Given the description of an element on the screen output the (x, y) to click on. 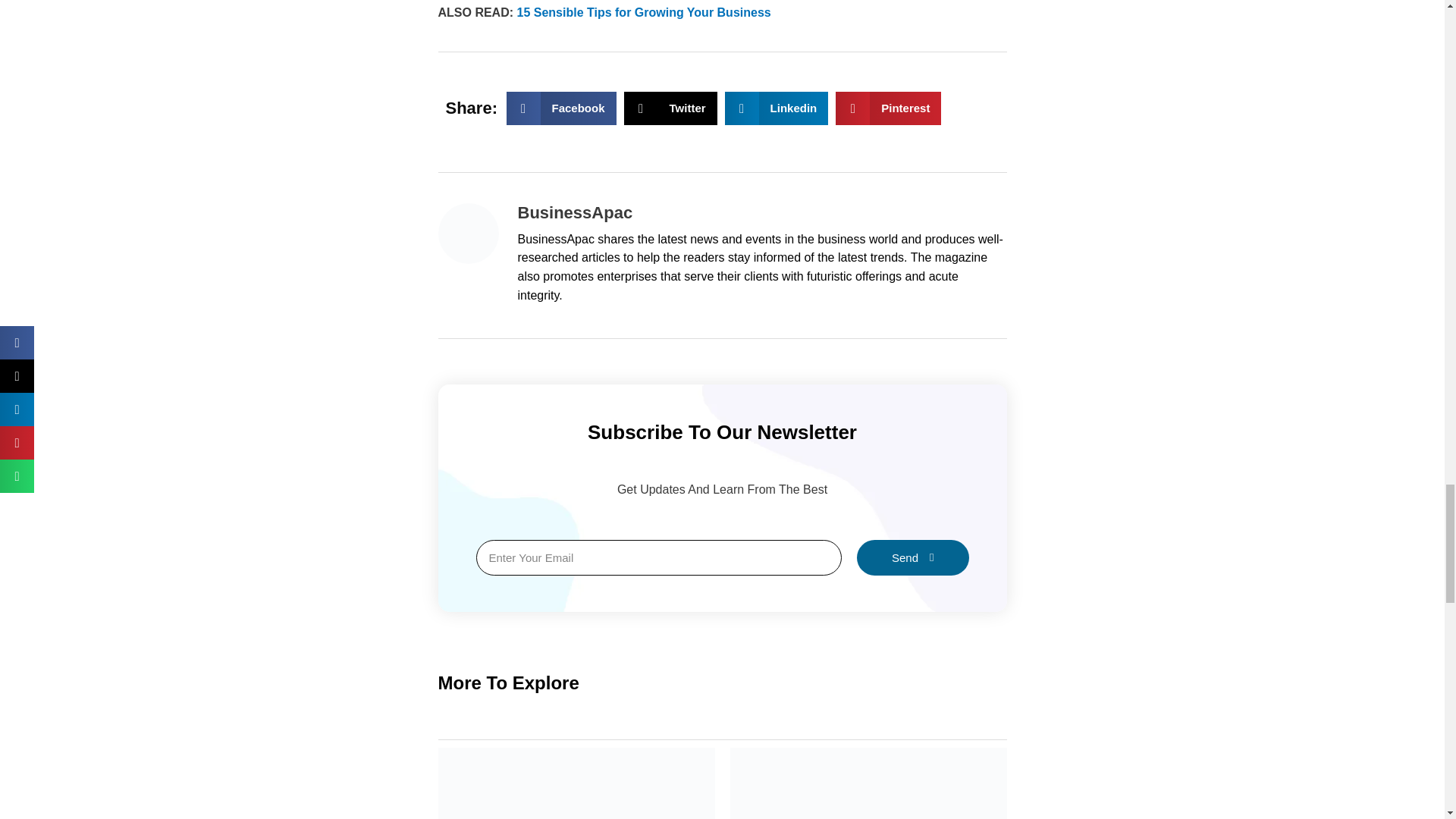
15 Sensible Tips for Growing Your Business (776, 108)
Send (670, 108)
